Given the description of an element on the screen output the (x, y) to click on. 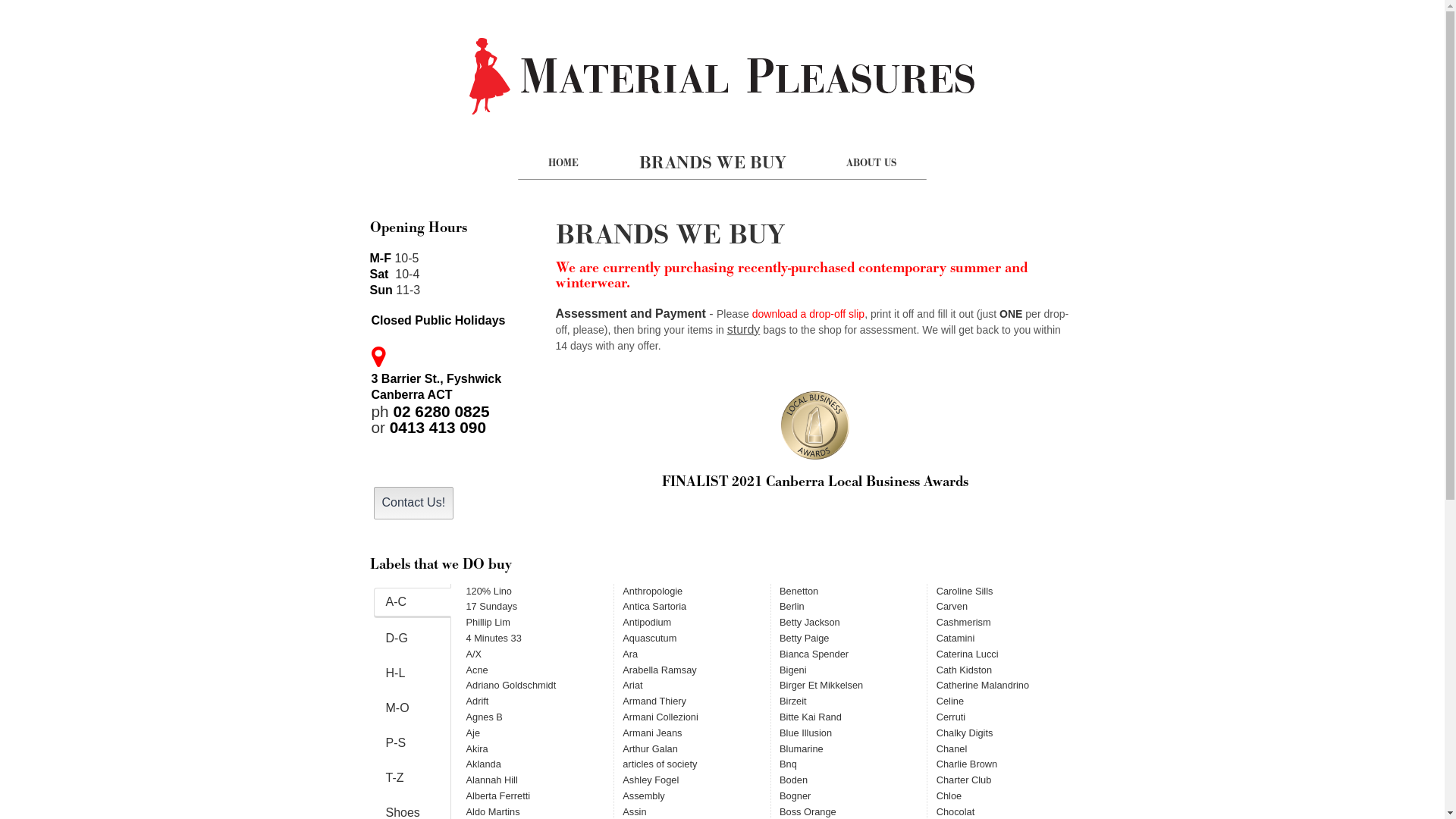
0413 413 090 Element type: text (437, 427)
3 Barrier St., Fyshwick
Canberra ACT Element type: text (436, 386)
Contact Us! Element type: text (413, 502)
HOME Element type: text (562, 162)
02 6280 0825 Element type: text (440, 411)
ABOUT US Element type: text (870, 162)
download a drop-off slip Element type: text (808, 313)
BRANDS WE BUY Element type: text (711, 162)
